Given the description of an element on the screen output the (x, y) to click on. 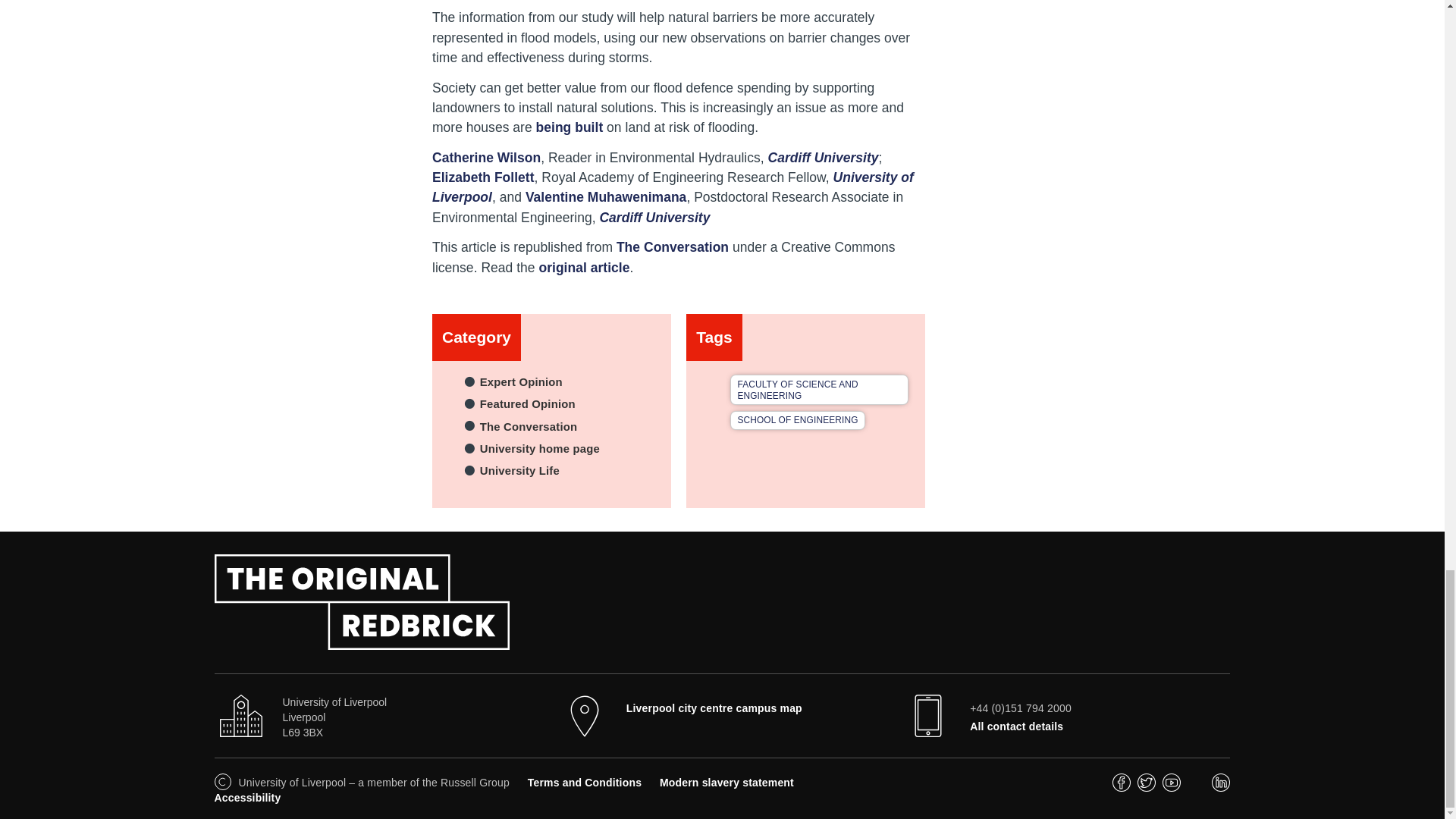
youtube (1170, 787)
instagram (1196, 787)
Terms and Conditions (584, 782)
Maps (714, 707)
linkedin (1220, 787)
twitter (1146, 787)
facebook (1121, 787)
Modern slavery statement (726, 782)
Contact us (1015, 726)
